Given the description of an element on the screen output the (x, y) to click on. 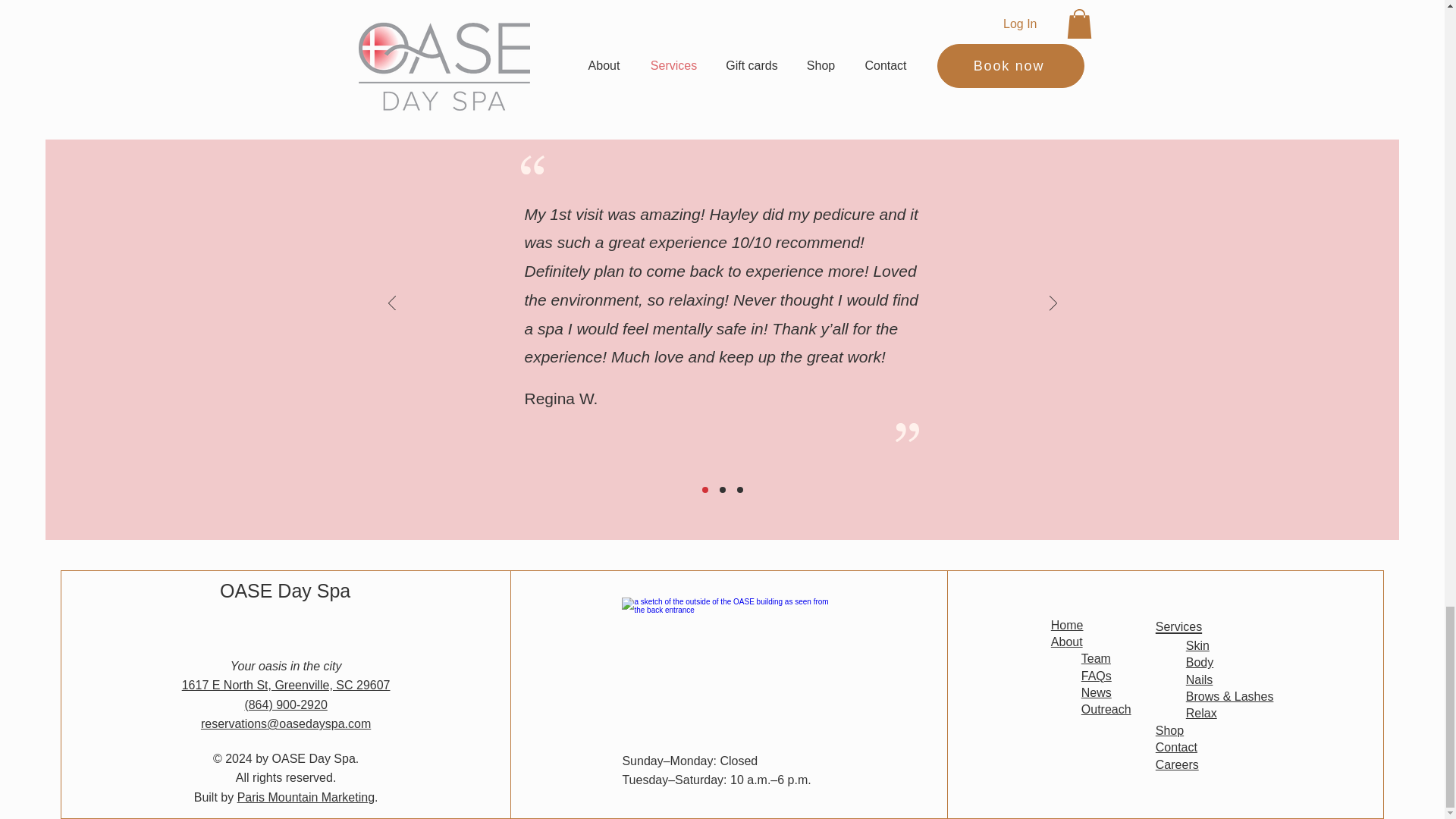
Home (1067, 624)
Team (1095, 658)
About (1067, 641)
1617 E North St, Greenville, SC 29607 (286, 684)
Paris Mountain Marketing (305, 797)
FAQs (1096, 675)
OASE Day Spa (284, 590)
